Given the description of an element on the screen output the (x, y) to click on. 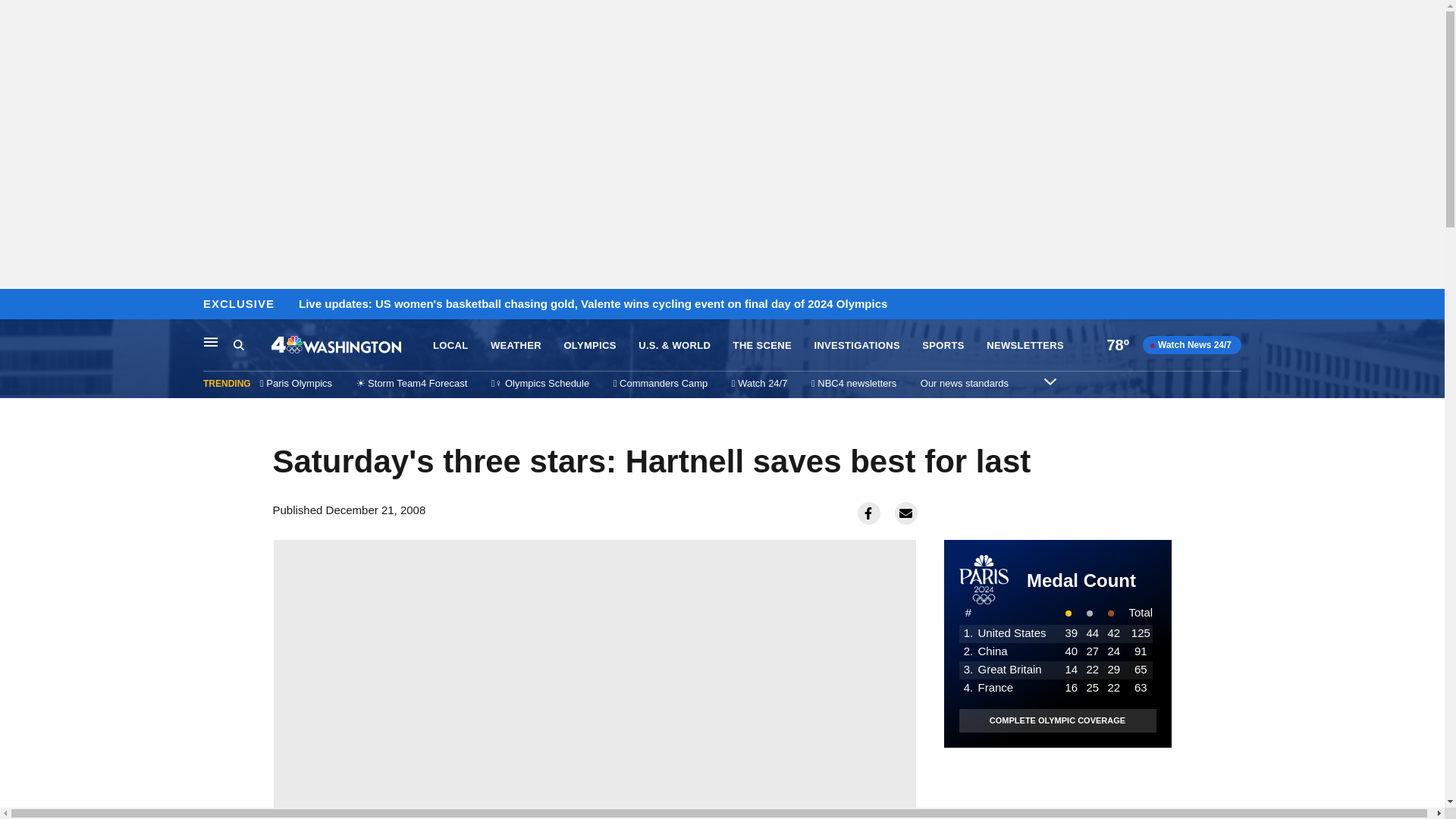
SPORTS (942, 345)
3rd party ad content (1056, 783)
Skip to content (16, 304)
Our news standards (964, 383)
Main Navigation (210, 341)
THE SCENE (762, 345)
WEATHER (515, 345)
INVESTIGATIONS (856, 345)
